Given the description of an element on the screen output the (x, y) to click on. 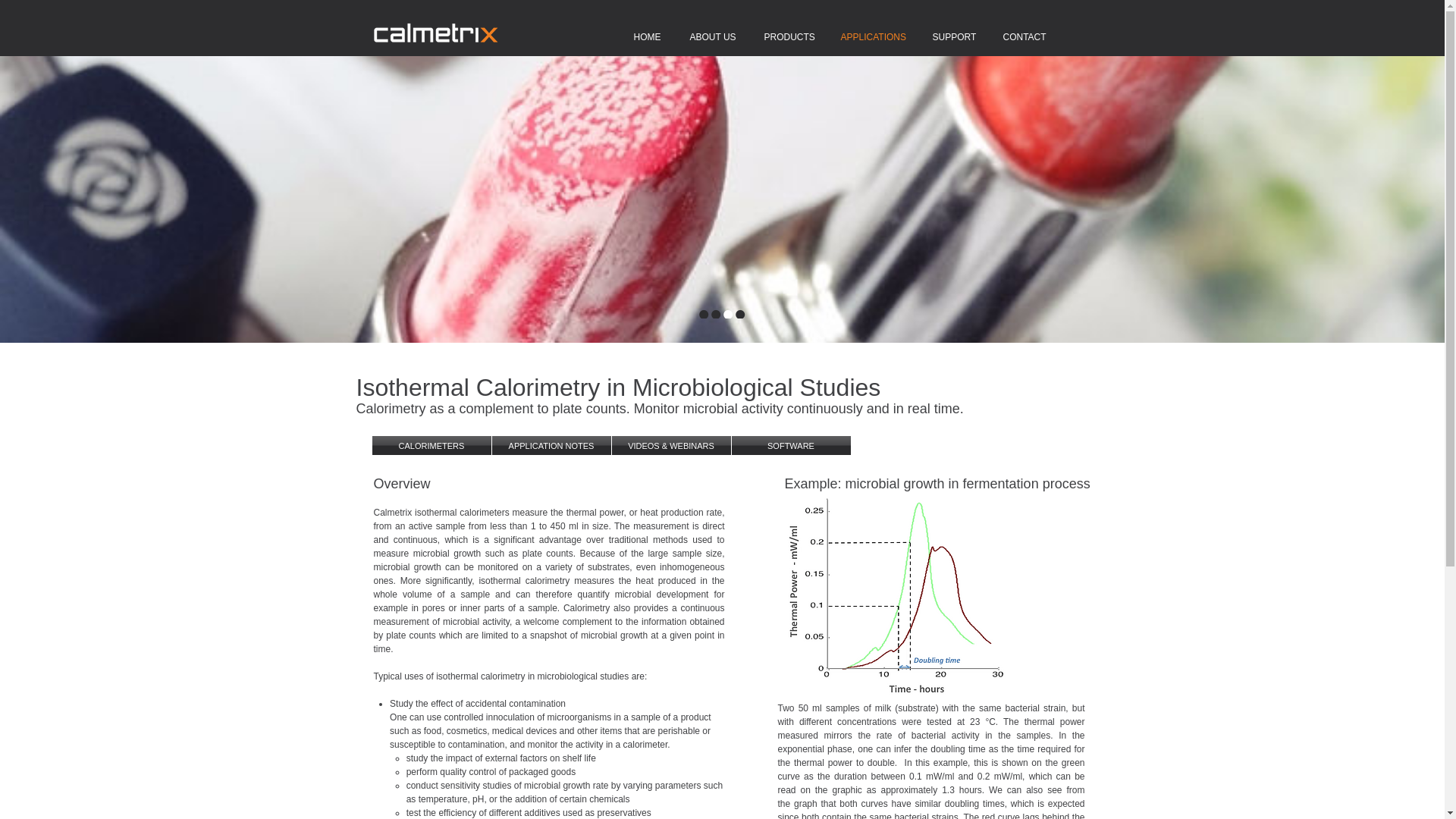
ABOUT US (710, 37)
CONTACT (1022, 37)
APPLICATIONS (871, 37)
APPLICATION NOTES (551, 445)
Slide1.png (909, 603)
SOFTWARE (790, 445)
HOME (644, 37)
PRODUCTS (786, 37)
SUPPORT (951, 37)
CALORIMETERS (430, 445)
